Given the description of an element on the screen output the (x, y) to click on. 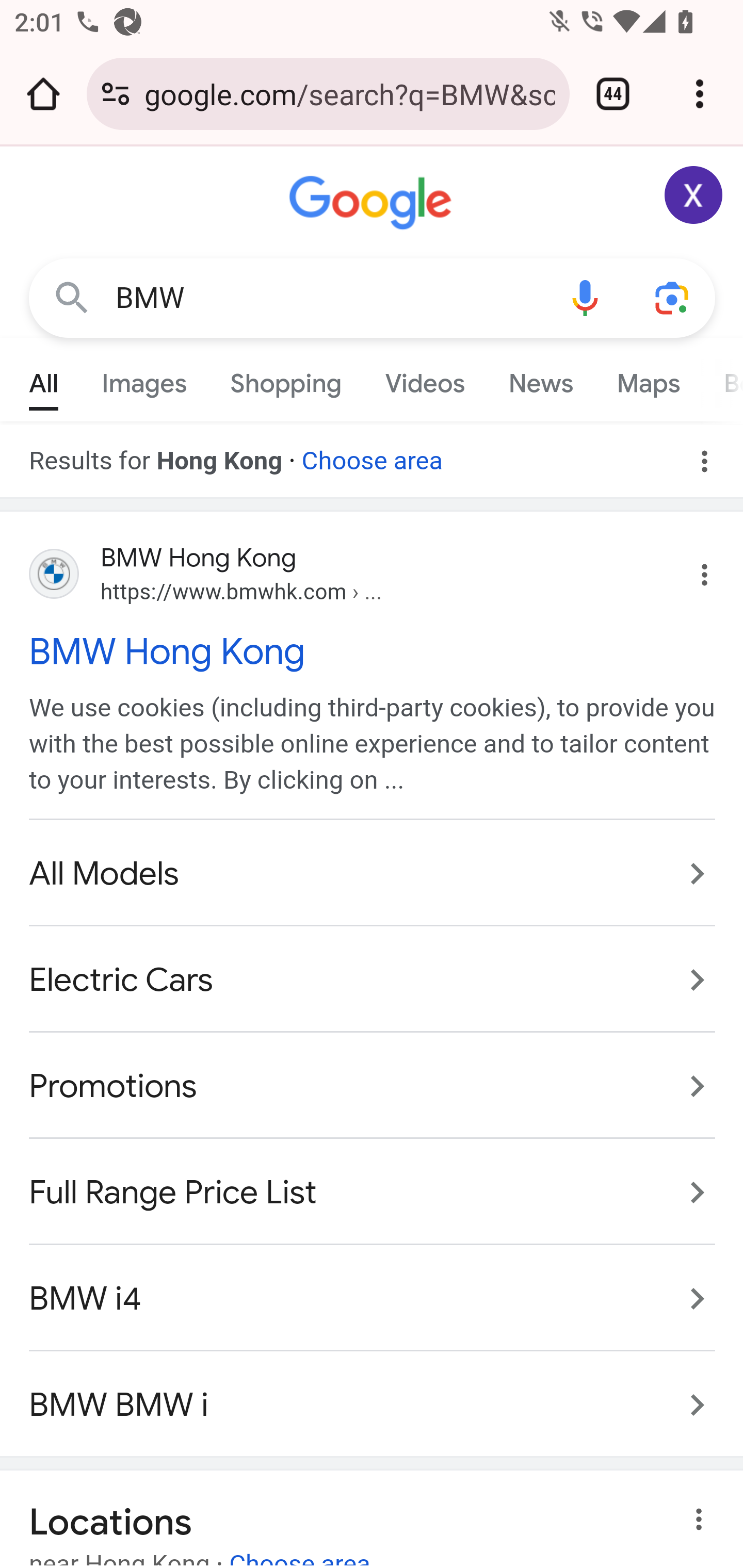
Open the home page (43, 93)
Connection is secure (115, 93)
Switch or close tabs (612, 93)
Customize and control Google Chrome (699, 93)
Google (372, 203)
Google Account: Xiaoran (zxrappiumtest@gmail.com) (694, 195)
Google Search (71, 296)
Search using your camera or photos (672, 296)
BMW (328, 297)
Images (144, 378)
Shopping (285, 378)
Videos (424, 378)
News (540, 378)
Maps (647, 378)
Choose area (371, 453)
BMW Hong Kong (372, 651)
All Models (372, 874)
Electric Cars (372, 981)
Promotions (372, 1087)
Full Range Price List (372, 1191)
BMW i4 (372, 1297)
BMW BMW i (372, 1393)
About this result (702, 1519)
